Given the description of an element on the screen output the (x, y) to click on. 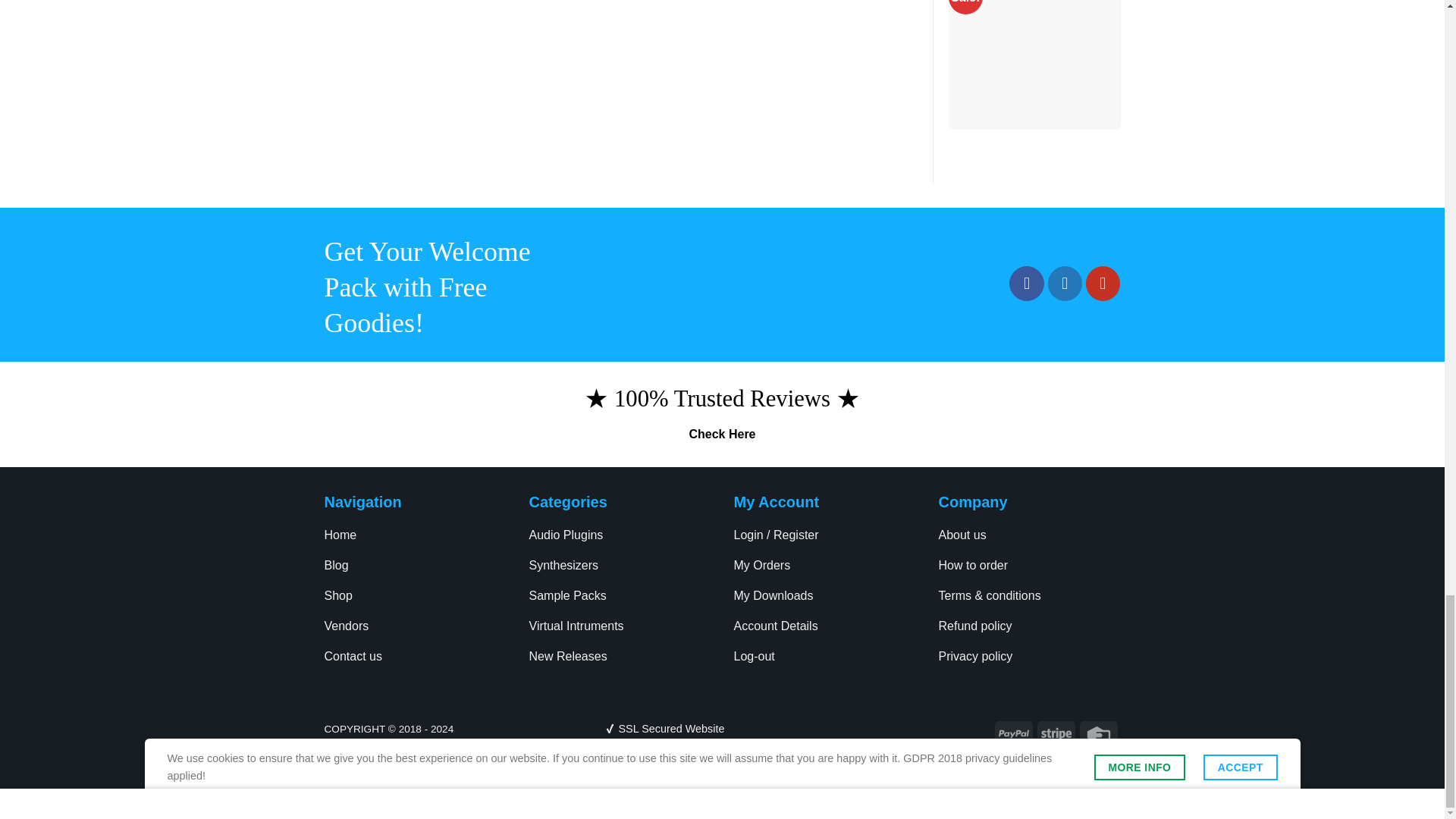
Follow on Twitter (1065, 283)
Follow on Facebook (1026, 283)
Follow on YouTube (1103, 283)
